Given the description of an element on the screen output the (x, y) to click on. 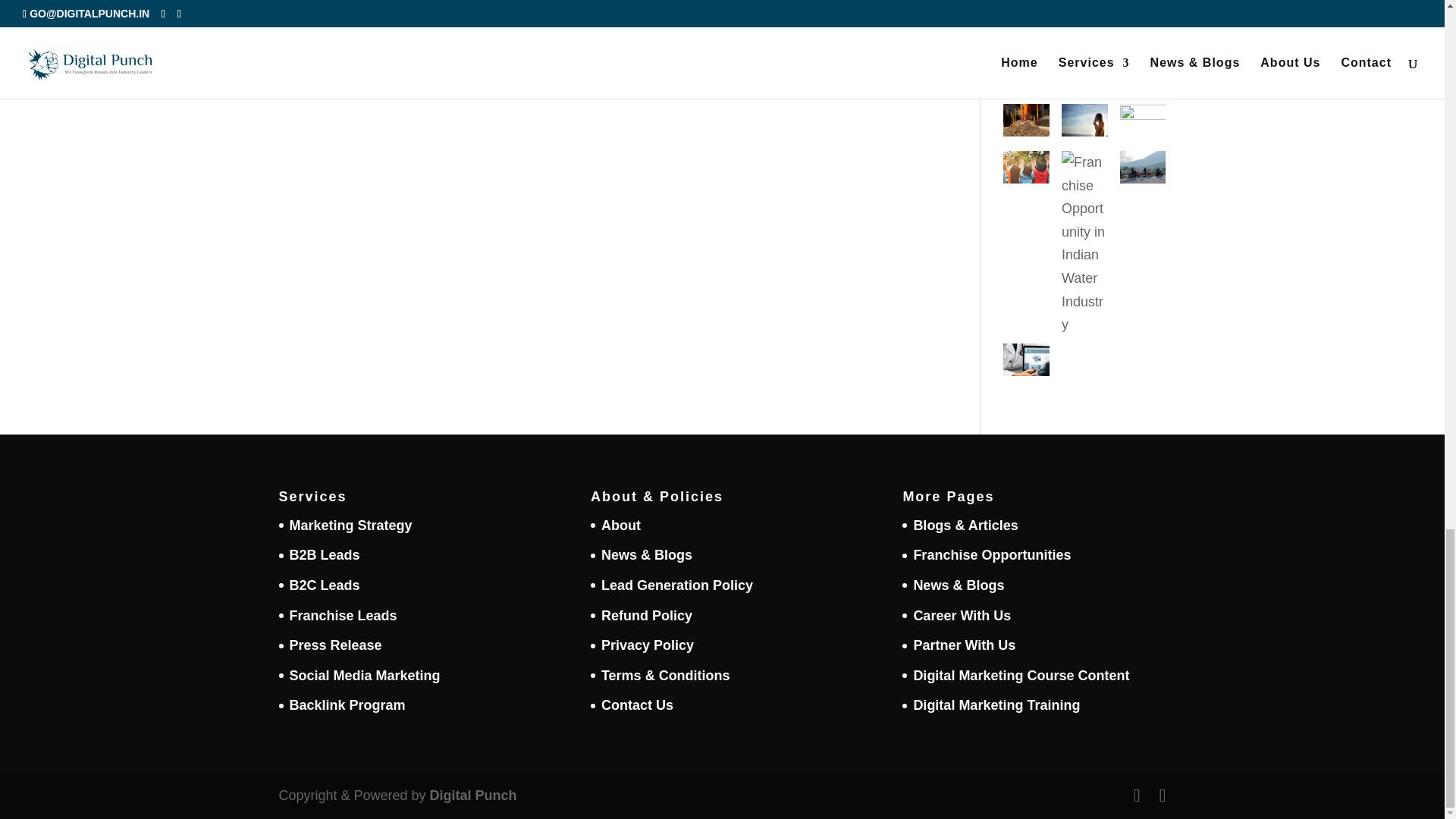
Pladen Music School (1142, 120)
Franchise Opportunity for Play School (1026, 170)
Incense Franchise Business Opportunity - Digital Punch (1026, 124)
Franchise Opportunity in Healthcare Industry (1026, 363)
photo-marketplace-02 (1084, 124)
photo-marketplace-01 (1026, 77)
